Given the description of an element on the screen output the (x, y) to click on. 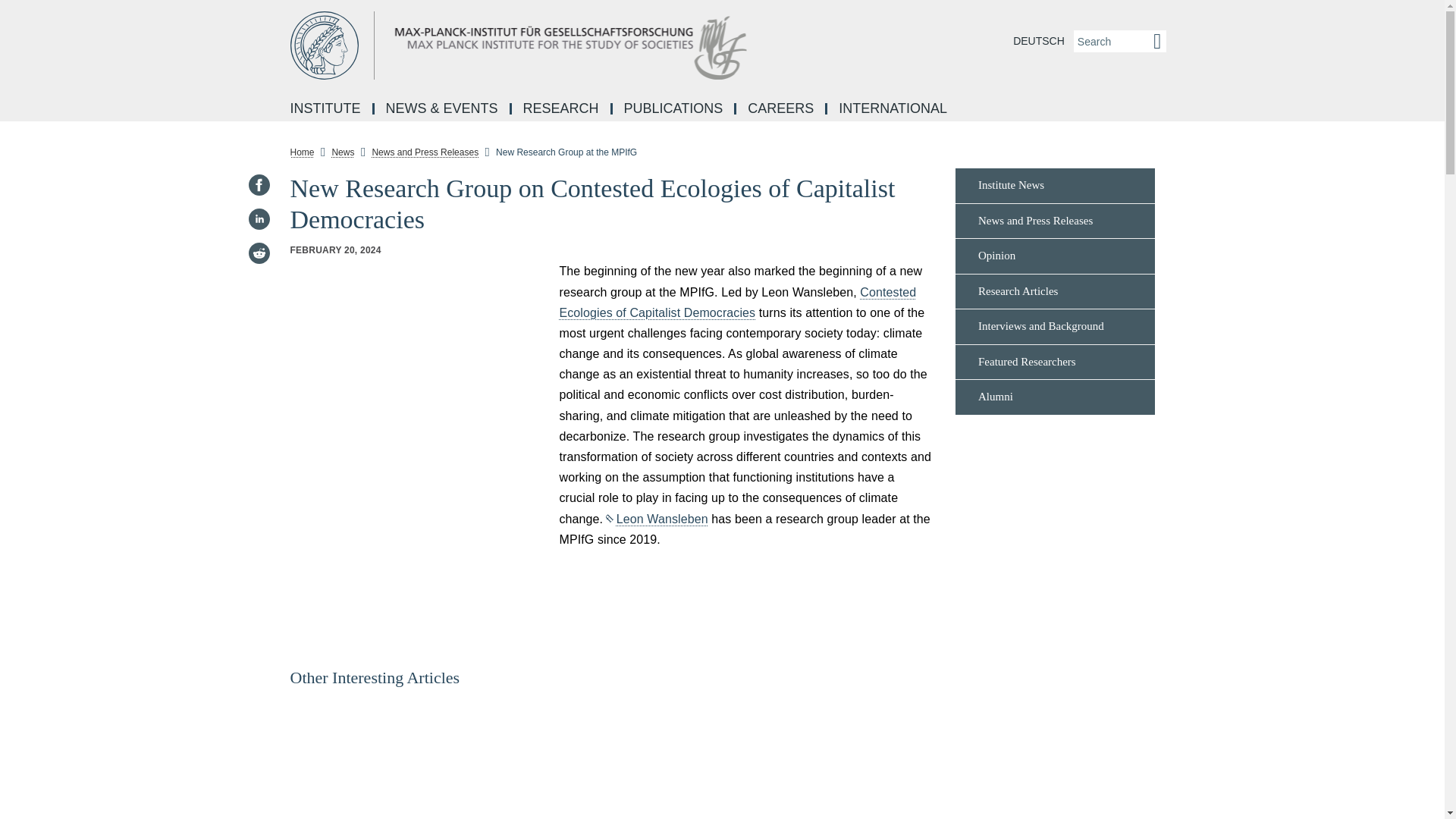
Xing (258, 321)
opens zoom view (418, 392)
Print (258, 389)
Reddit (258, 252)
LinkedIn (258, 219)
DEUTSCH (1038, 41)
Twitter (258, 287)
INSTITUTE (326, 108)
Facebook (258, 184)
RESEARCH (562, 108)
